Given the description of an element on the screen output the (x, y) to click on. 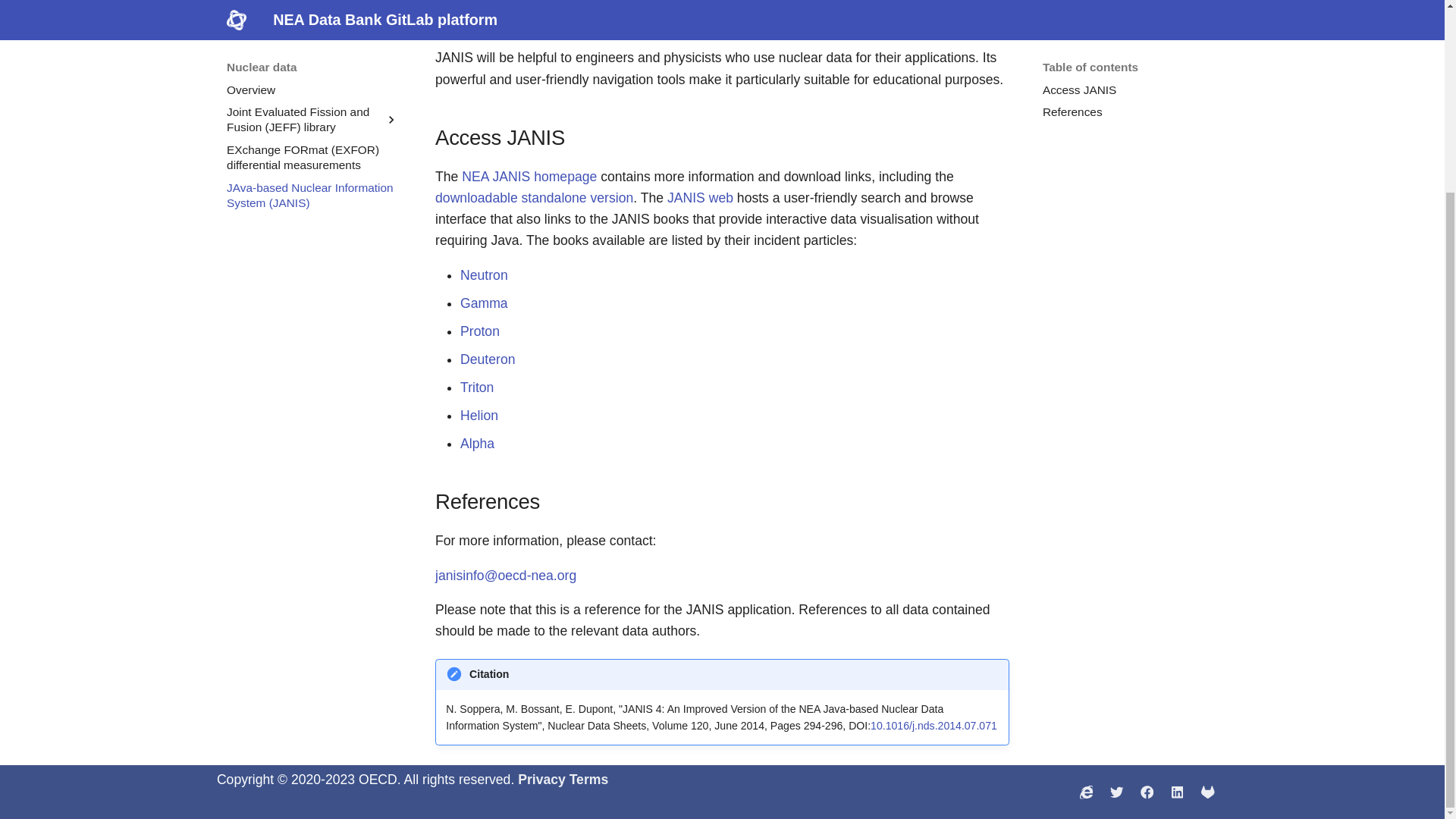
www.facebook.com (1147, 791)
twitter.com (1116, 791)
oecd-nea.org (1086, 791)
git.oecd-nea.org (1207, 791)
linkedin.com (1177, 791)
